Given the description of an element on the screen output the (x, y) to click on. 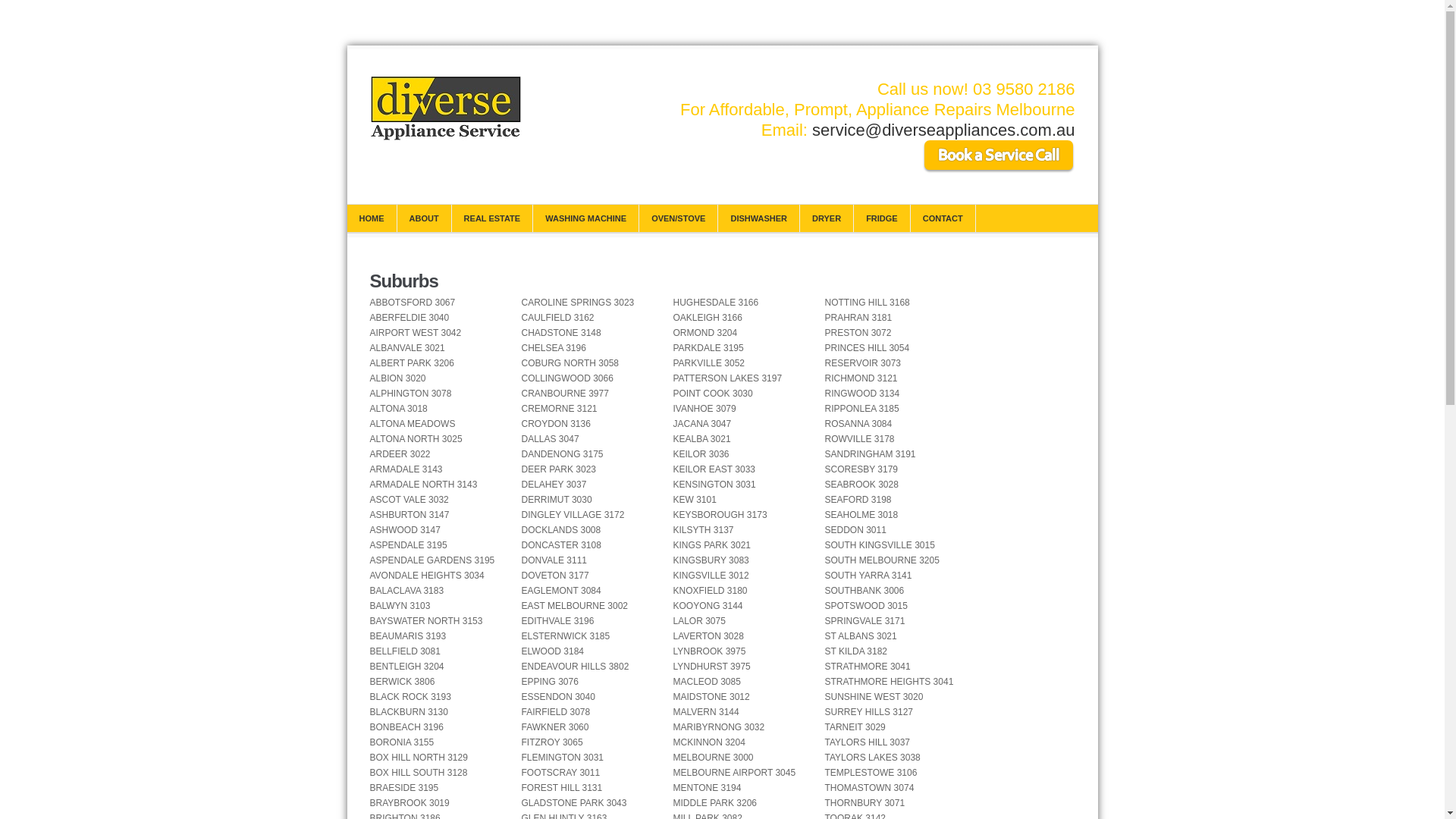
FRIDGE Element type: text (881, 217)
DISHWASHER Element type: text (758, 217)
REAL ESTATE Element type: text (492, 217)
service@diverseappliances.com.au Element type: text (943, 129)
WASHING MACHINE Element type: text (585, 217)
HOME Element type: text (371, 217)
DRYER Element type: text (826, 217)
CONTACT Element type: text (942, 217)
OVEN/STOVE Element type: text (678, 217)
ABOUT Element type: text (424, 217)
